Given the description of an element on the screen output the (x, y) to click on. 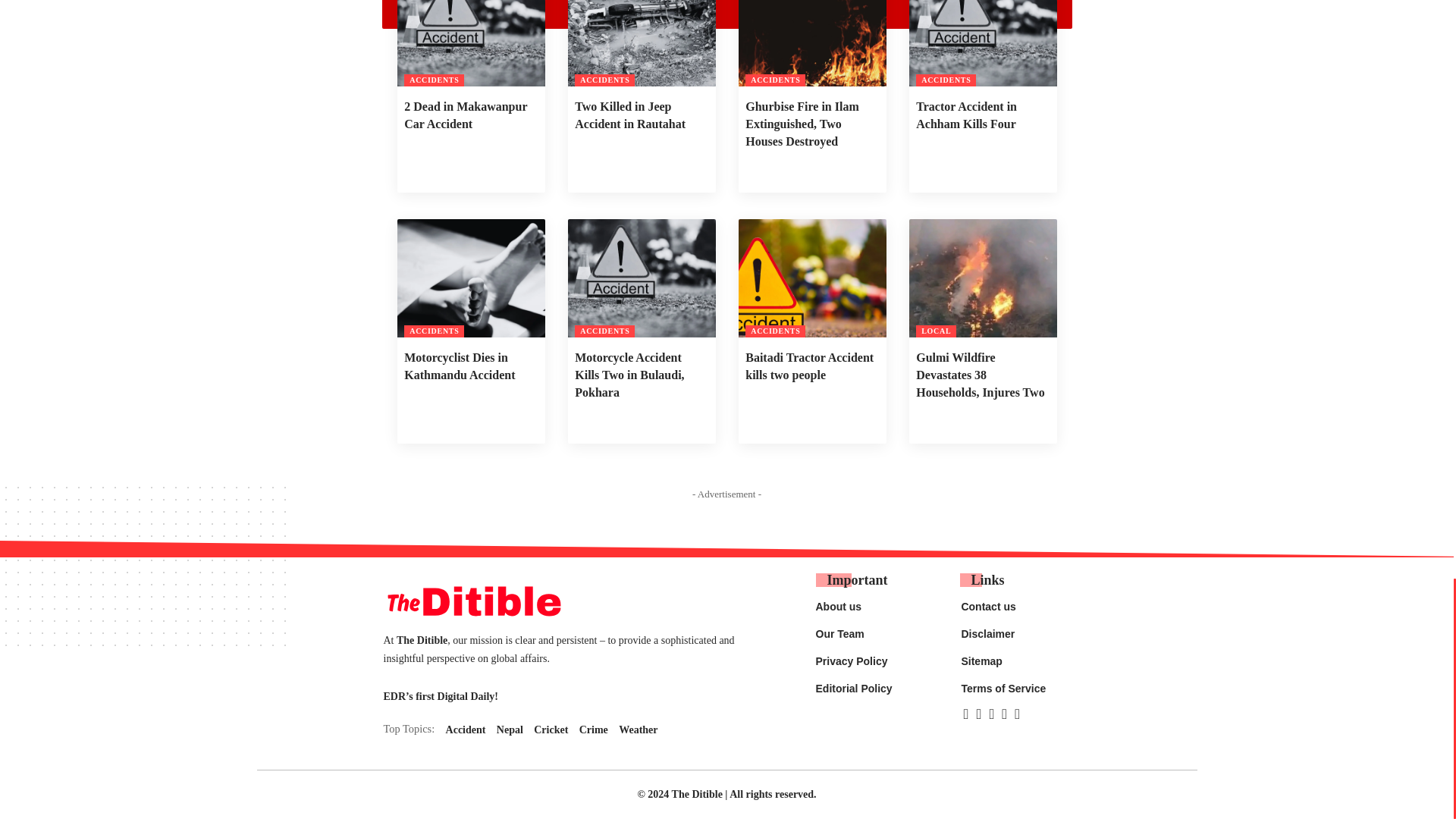
2 Dead in Makawanpur Car Accident (470, 43)
Two Killed in Jeep Accident in Rautahat (640, 43)
